Given the description of an element on the screen output the (x, y) to click on. 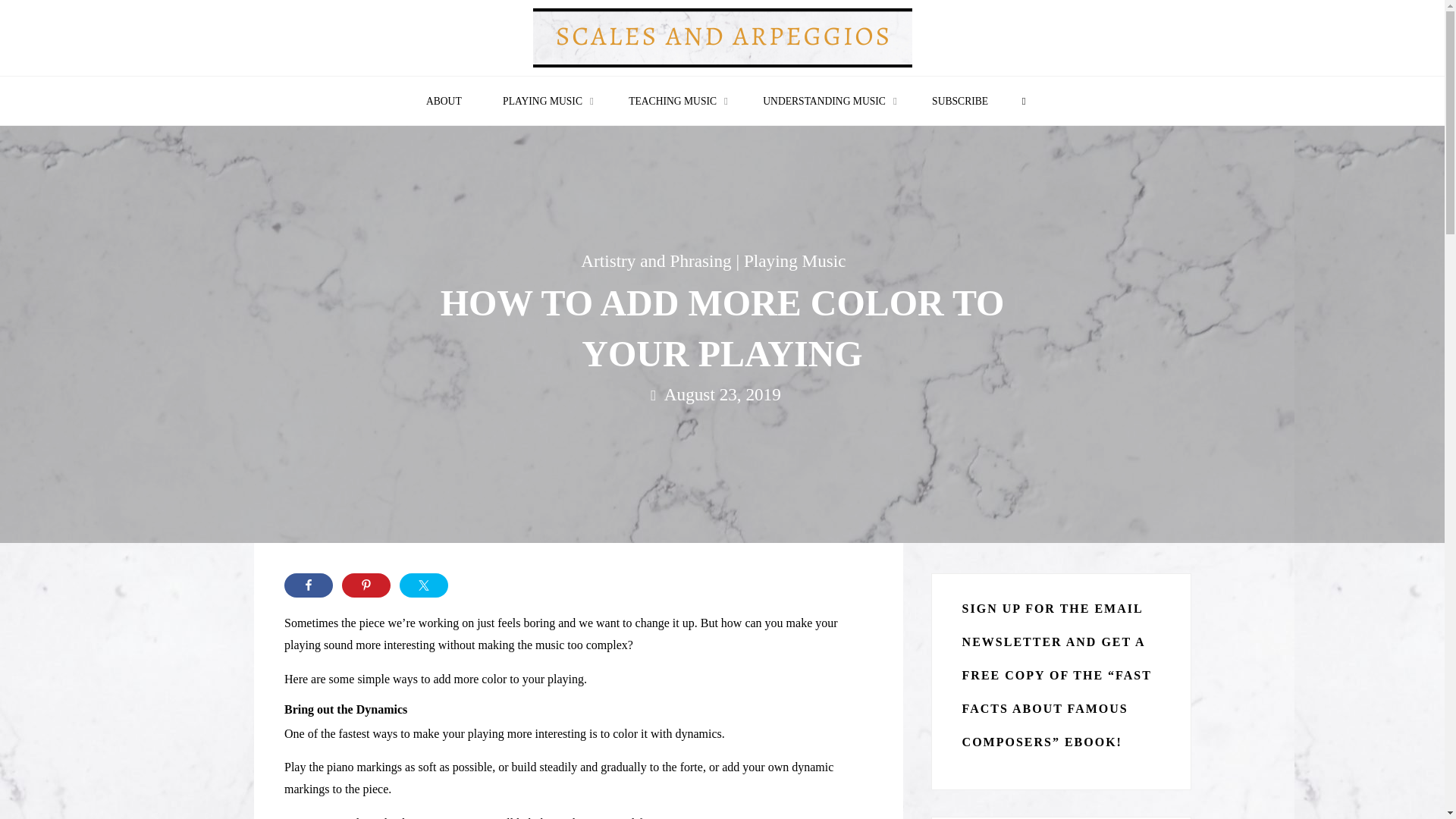
PLAYING MUSIC (544, 101)
Date (653, 395)
Share on Twitter (422, 585)
Share on Facebook (307, 585)
TEACHING MUSIC (675, 101)
ABOUT (443, 101)
Scales and Arpeggios (721, 36)
Share on Pinterest (365, 585)
